Given the description of an element on the screen output the (x, y) to click on. 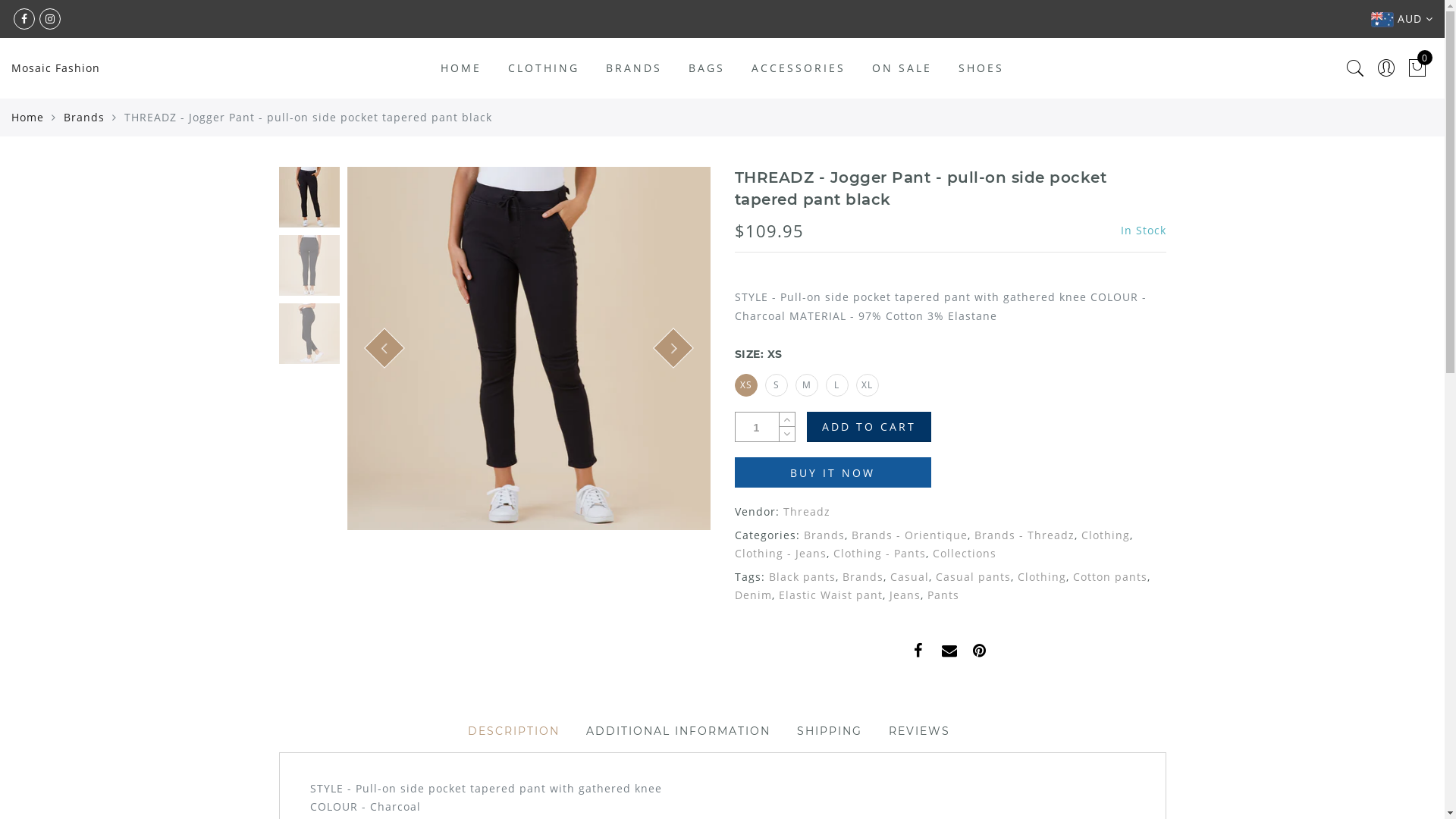
Brands - Threadz Element type: text (1023, 534)
BAGS Element type: text (706, 67)
BUY IT NOW Element type: text (832, 472)
ACCESSORIES Element type: text (798, 67)
Brands Element type: text (823, 534)
REVIEWS Element type: text (919, 730)
Clothing Element type: text (1105, 534)
0 Element type: text (1417, 68)
DESCRIPTION Element type: text (513, 730)
Brands Element type: text (83, 116)
HOME Element type: text (460, 67)
CLOTHING Element type: text (543, 67)
Qty Element type: hover (757, 427)
Threadz Element type: text (805, 511)
Denim Element type: text (752, 594)
SHIPPING Element type: text (829, 730)
NEXT Element type: text (666, 341)
Brands - Orientique Element type: text (908, 534)
Clothing - Pants Element type: text (878, 553)
Mosaic Fashion Element type: text (55, 67)
Casual Element type: text (909, 576)
SHOES Element type: text (981, 67)
Clothing Element type: text (1041, 576)
BRANDS Element type: text (633, 67)
Cotton pants Element type: text (1109, 576)
Home Element type: text (27, 116)
ADDITIONAL INFORMATION Element type: text (678, 730)
Black pants Element type: text (801, 576)
ADD TO CART Element type: text (868, 426)
Collections Element type: text (964, 553)
Brands Element type: text (861, 576)
Jeans Element type: text (903, 594)
Elastic Waist pant Element type: text (829, 594)
Clothing - Jeans Element type: text (779, 553)
Casual pants Element type: text (972, 576)
PREVIOUS Element type: text (378, 341)
ON SALE Element type: text (901, 67)
Pants Element type: text (942, 594)
